Given the description of an element on the screen output the (x, y) to click on. 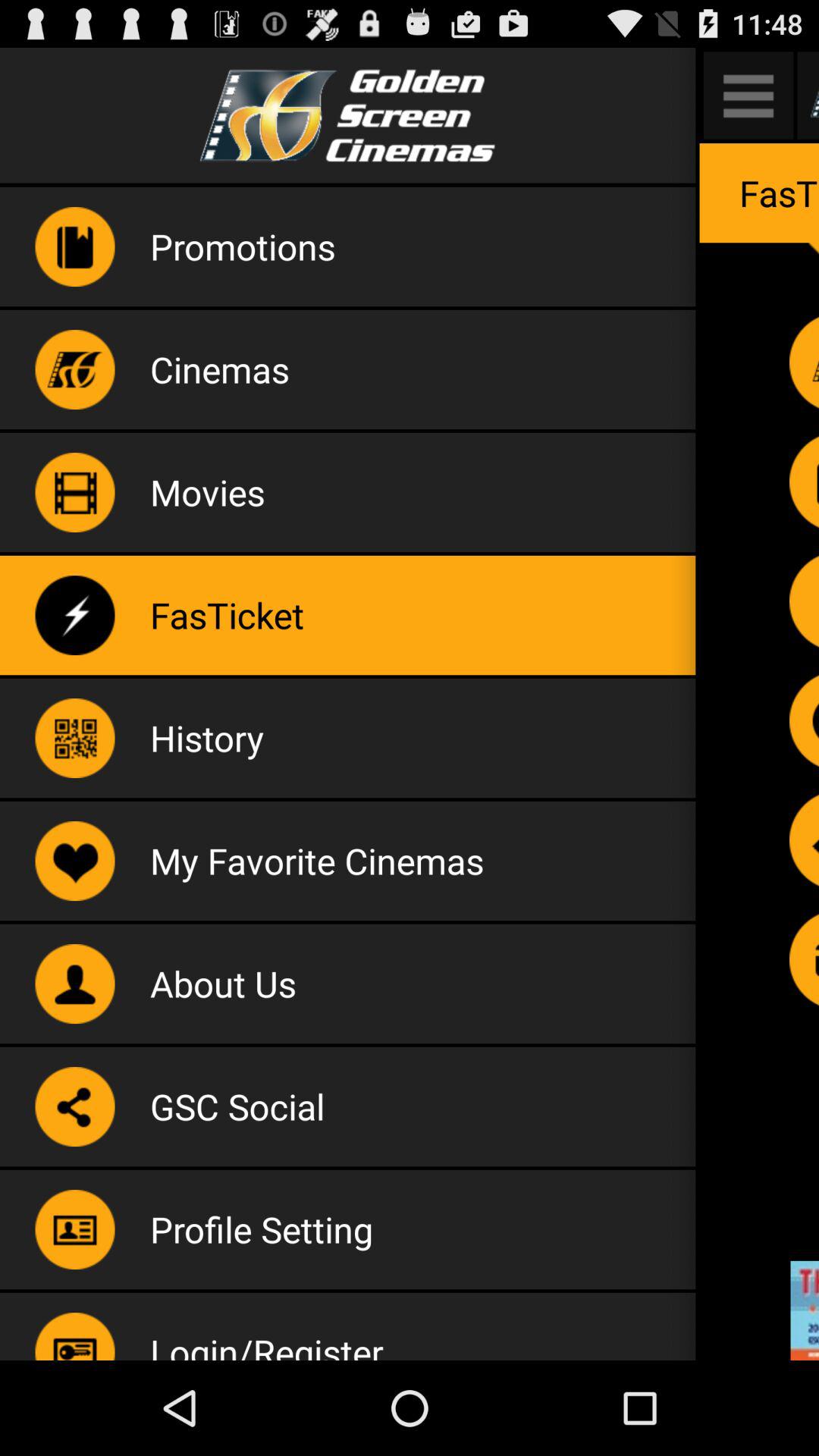
choose option (804, 720)
